Given the description of an element on the screen output the (x, y) to click on. 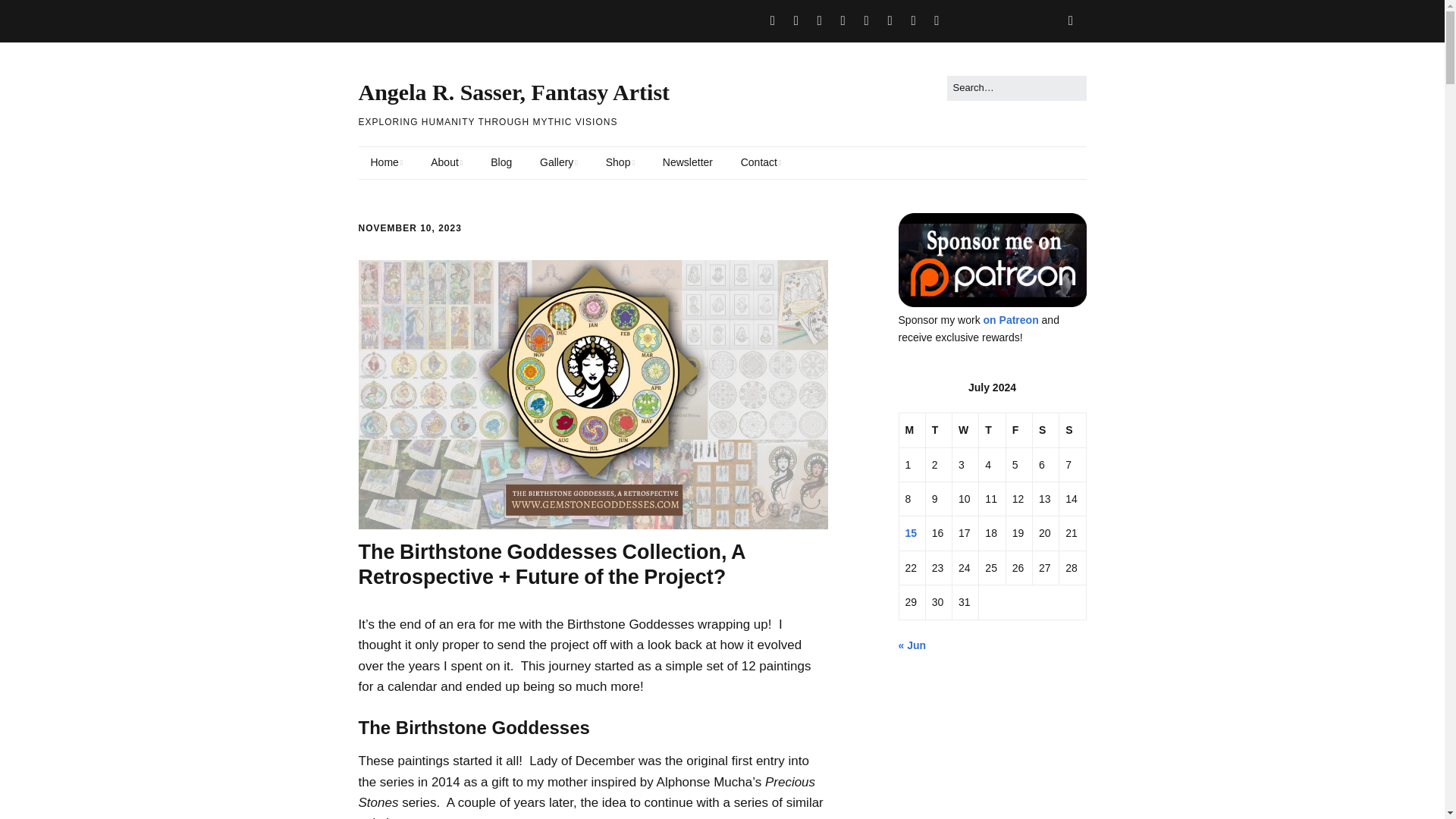
About (446, 163)
Angela R. Sasser, Fantasy Artist (513, 91)
Gallery (558, 163)
Home (386, 163)
Press Enter to submit your search (1016, 88)
Blog (501, 163)
Search (29, 15)
